Given the description of an element on the screen output the (x, y) to click on. 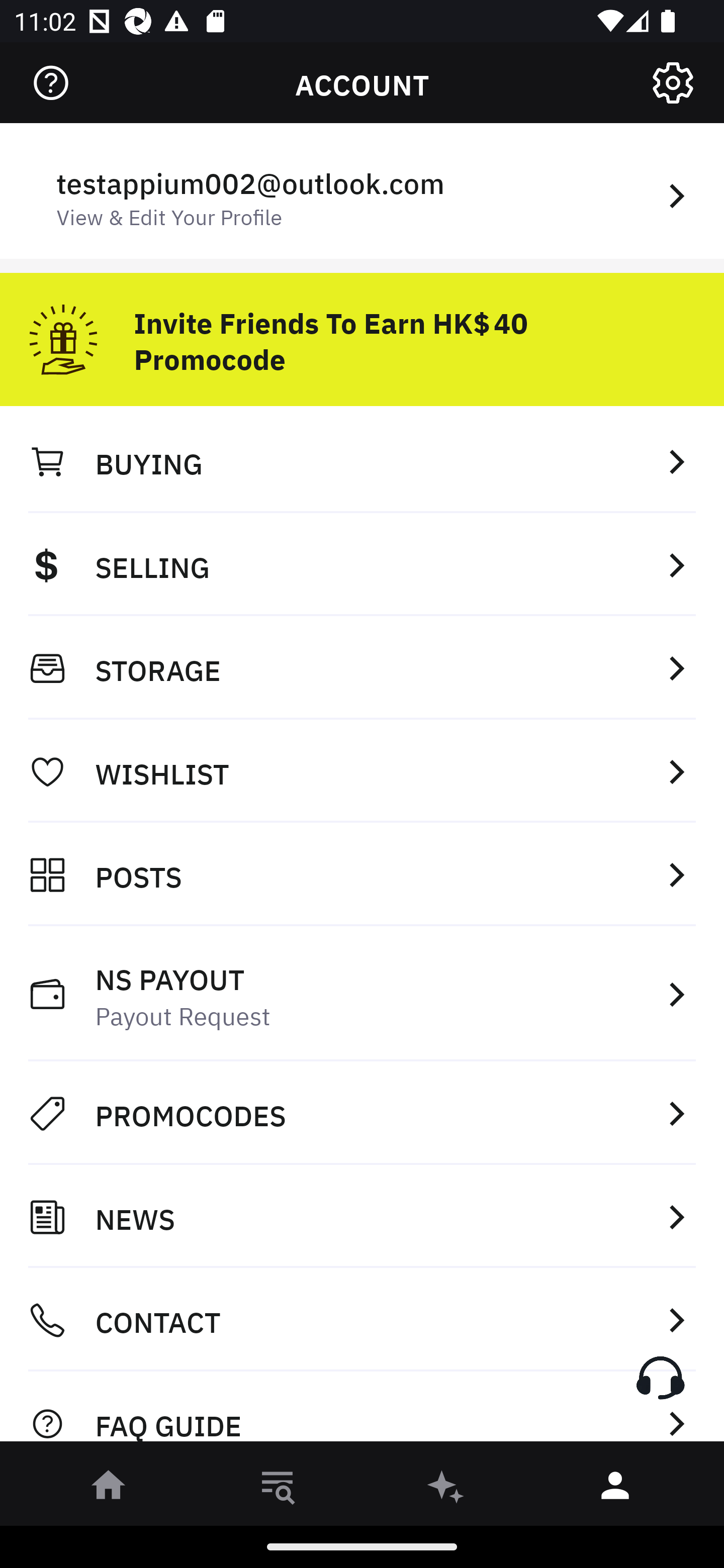
 (50, 83)
 (672, 83)
Invite Friends To Earn HK$ 40 Promocode (362, 332)
 BUYING  (361, 460)
 SELLING  (361, 564)
 STORAGE  (361, 667)
 WISHLIST  (361, 771)
 POSTS  (361, 874)
 0 NS PAYOUT Payout Request  (361, 993)
 PROMOCODES  (361, 1113)
 NEWS  (361, 1216)
 CONTACT  (361, 1320)
 FAQ GUIDE  (361, 1411)
󰋜 (108, 1488)
󱎸 (277, 1488)
󰫢 (446, 1488)
󰀄 (615, 1488)
